Given the description of an element on the screen output the (x, y) to click on. 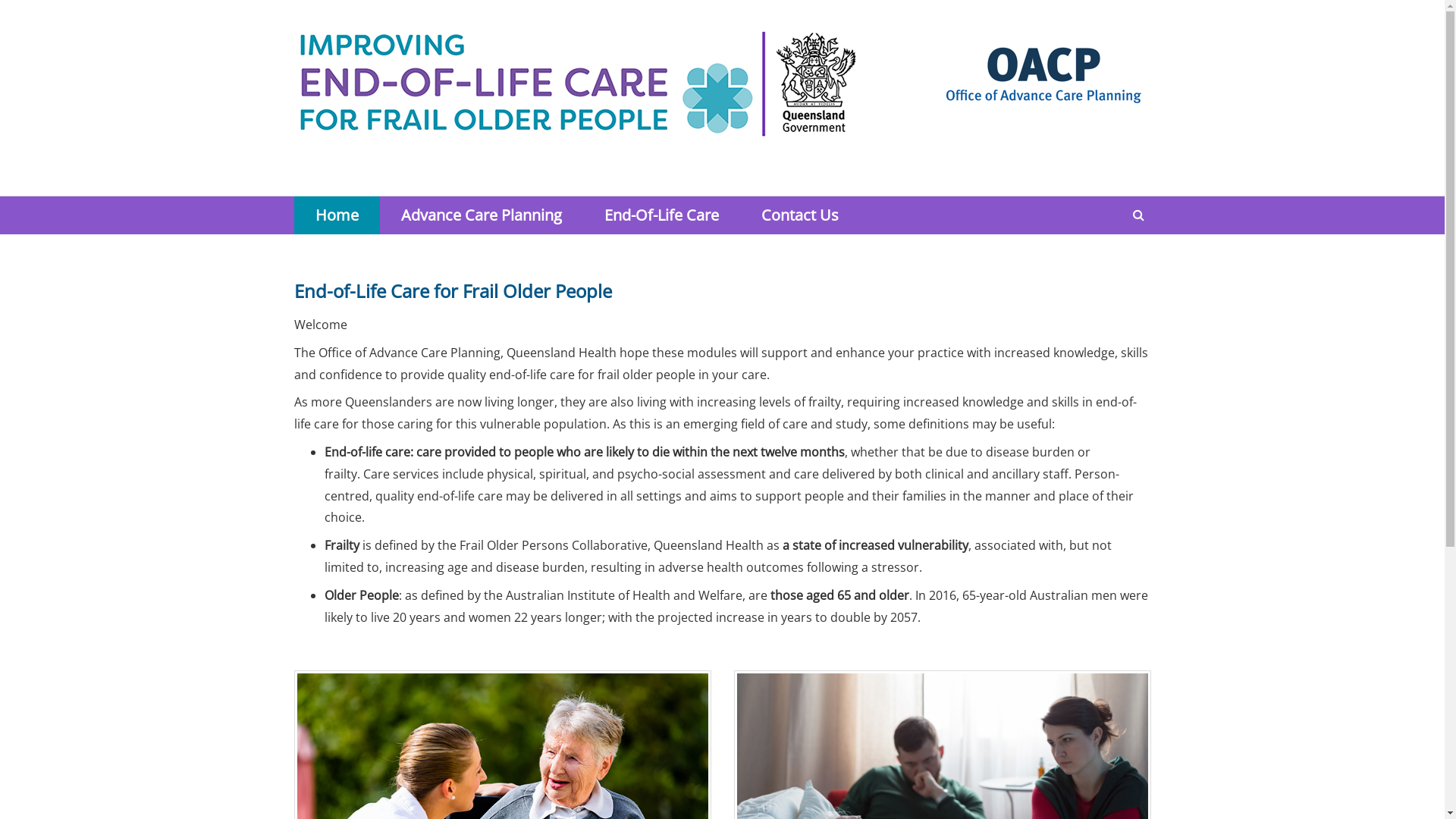
Home Element type: text (336, 215)
EoLcareFOP Element type: hover (578, 95)
End-Of-Life Care Element type: text (660, 215)
Login Element type: text (1129, 23)
Advance Care Planning Element type: text (480, 215)
Contact Us Element type: text (799, 215)
